Given the description of an element on the screen output the (x, y) to click on. 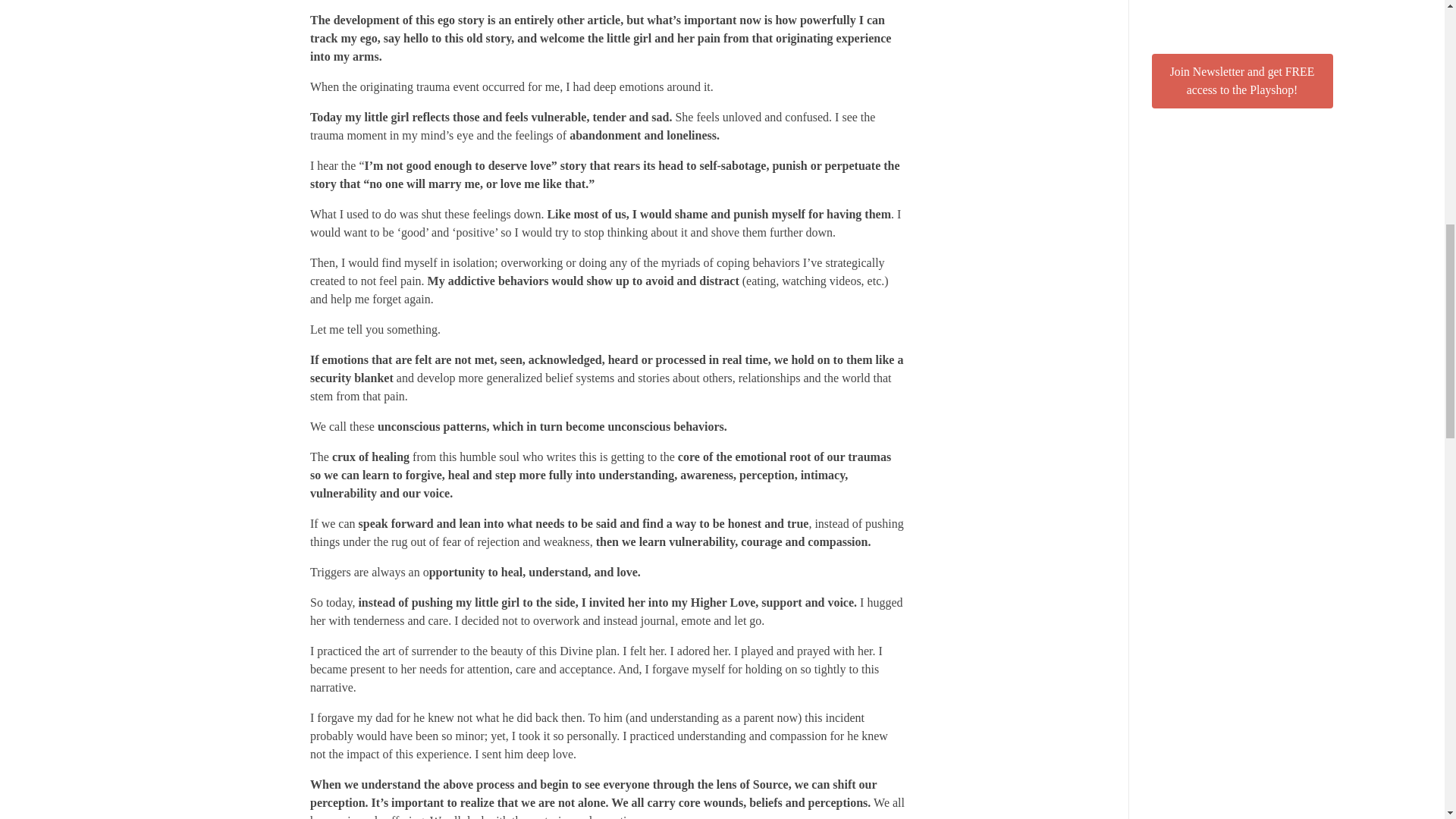
Join Newsletter and get FREE access to the Playshop! (1241, 81)
